Given the description of an element on the screen output the (x, y) to click on. 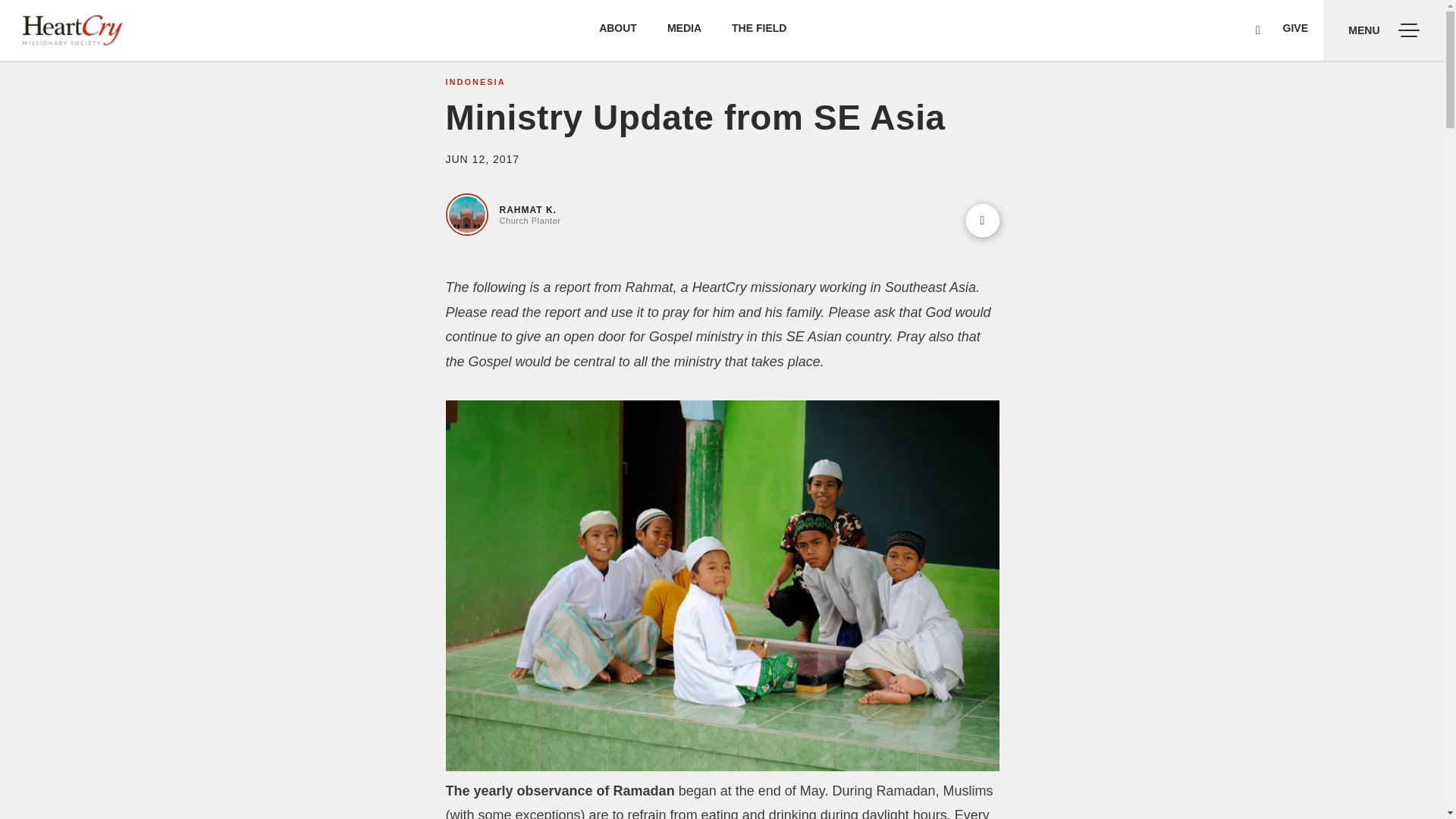
THE FIELD (759, 28)
GIVE (1295, 28)
MEDIA (684, 28)
ABOUT (617, 28)
